Given the description of an element on the screen output the (x, y) to click on. 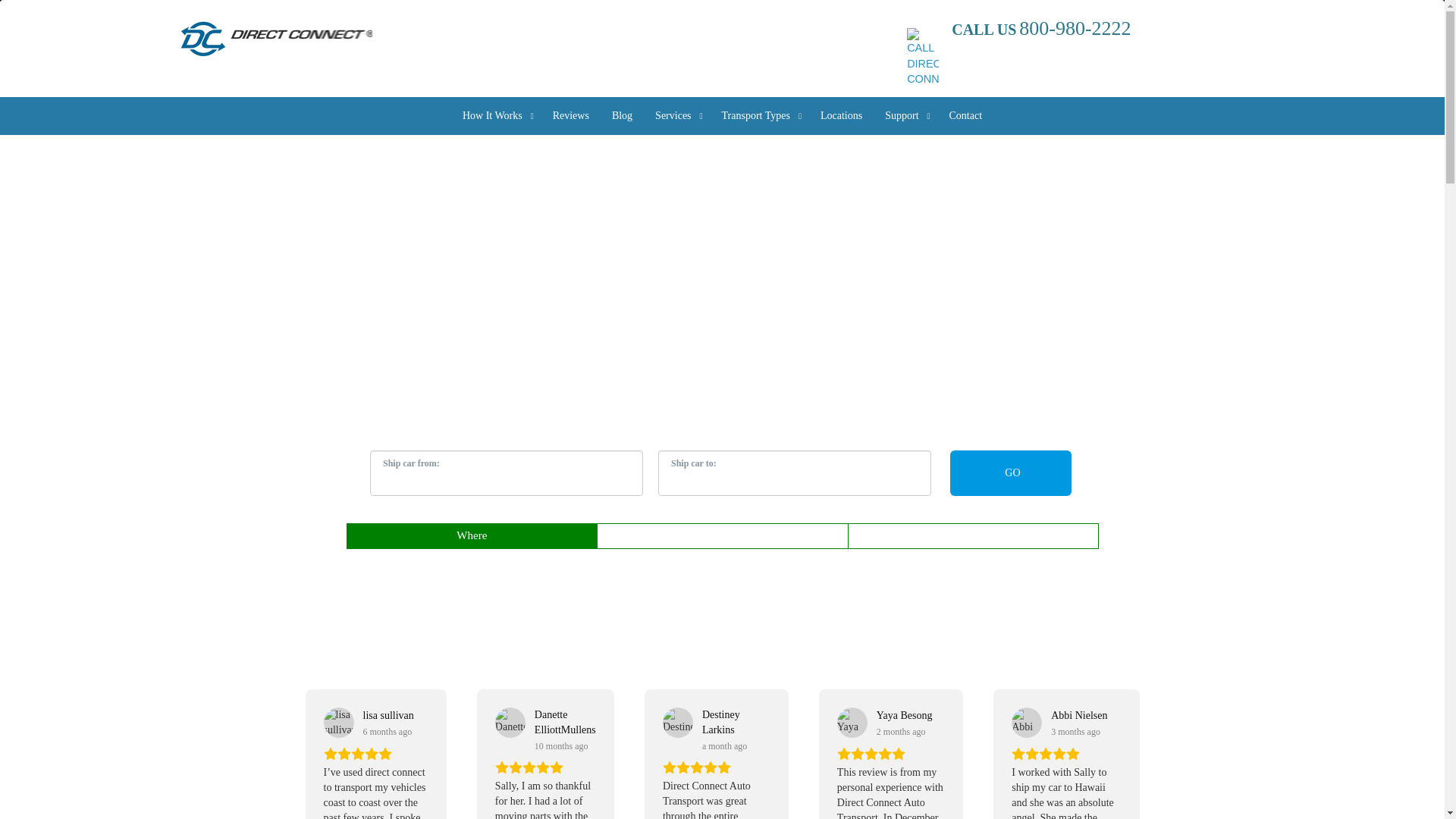
Transport Types (759, 116)
How It Works (496, 116)
GO (1009, 473)
Support (905, 116)
Locations (841, 116)
Services (676, 116)
Reviews (570, 116)
CALL US 800-980-2222 (1079, 48)
Blog (621, 116)
